Given the description of an element on the screen output the (x, y) to click on. 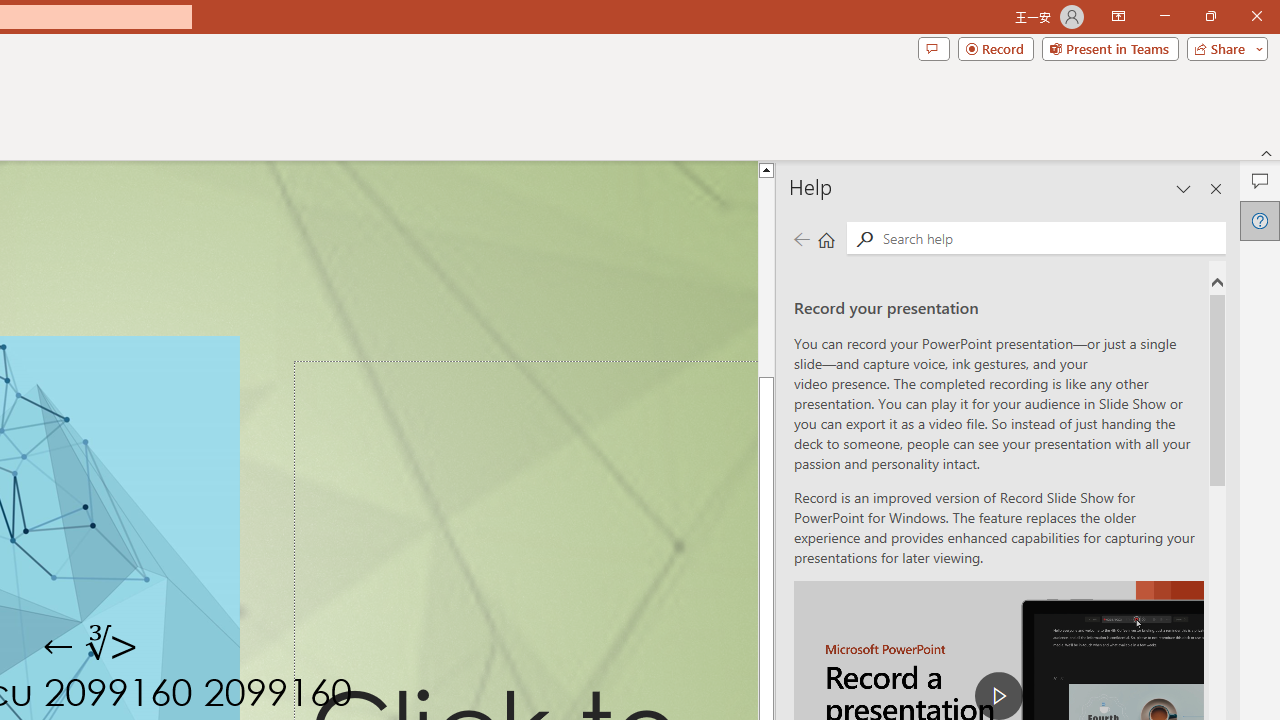
TextBox 7 (91, 645)
play Record a Presentation (998, 695)
